Given the description of an element on the screen output the (x, y) to click on. 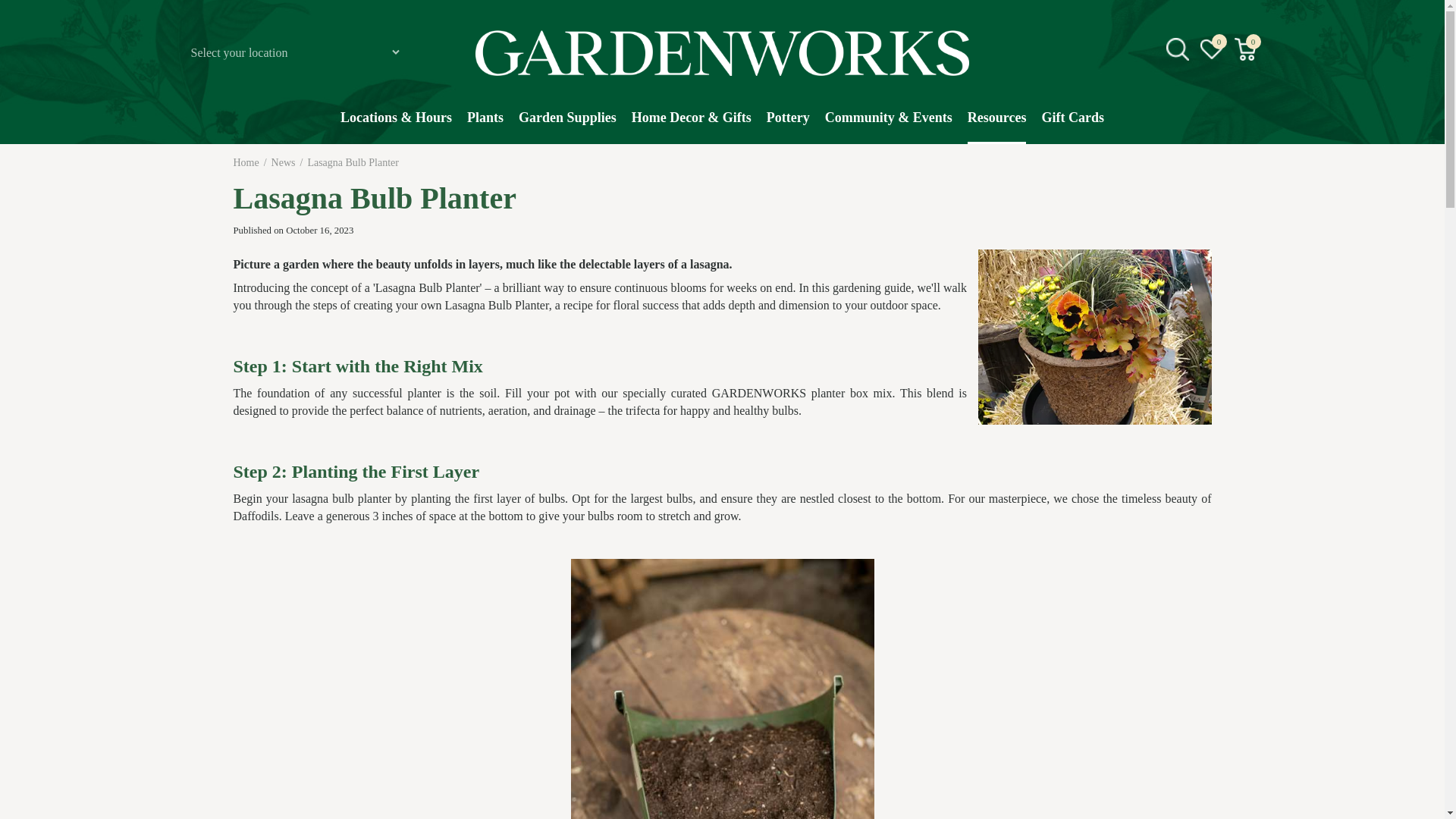
Garden Supplies (566, 125)
No items in shopping cart (1245, 48)
GARDENWORKS garden centres (722, 53)
News (282, 162)
Go to the wishlist (1211, 48)
Go to the shopping cart (1245, 48)
Home (245, 162)
src (1177, 48)
Home (245, 162)
Lasagna Bulb Planter (352, 162)
Search (1241, 168)
No items in wishlist (1211, 48)
Plants (485, 125)
News (282, 162)
